Given the description of an element on the screen output the (x, y) to click on. 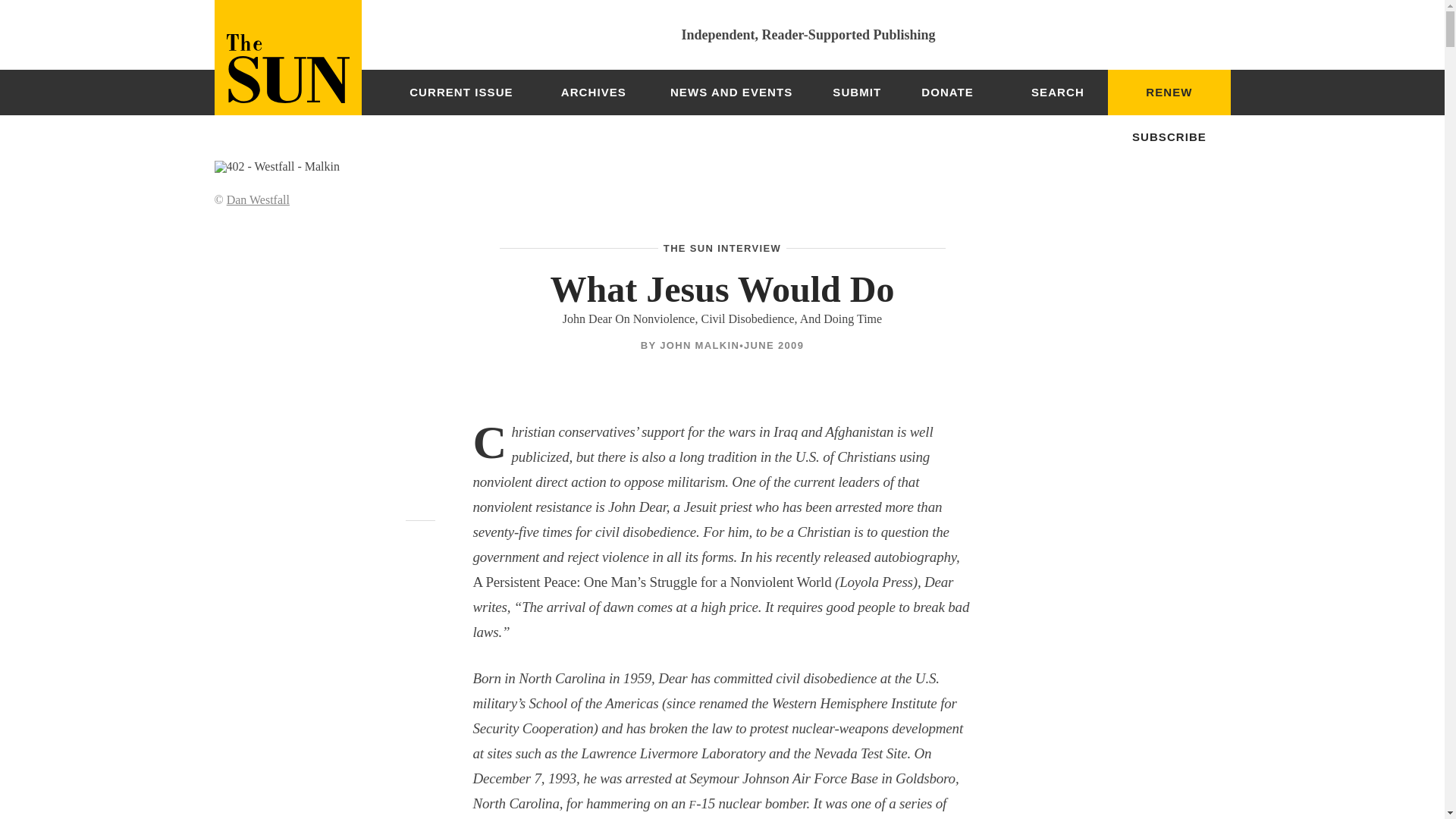
CURRENT ISSUE (461, 92)
ARCHIVES (593, 92)
NEWS AND EVENTS (730, 92)
